Given the description of an element on the screen output the (x, y) to click on. 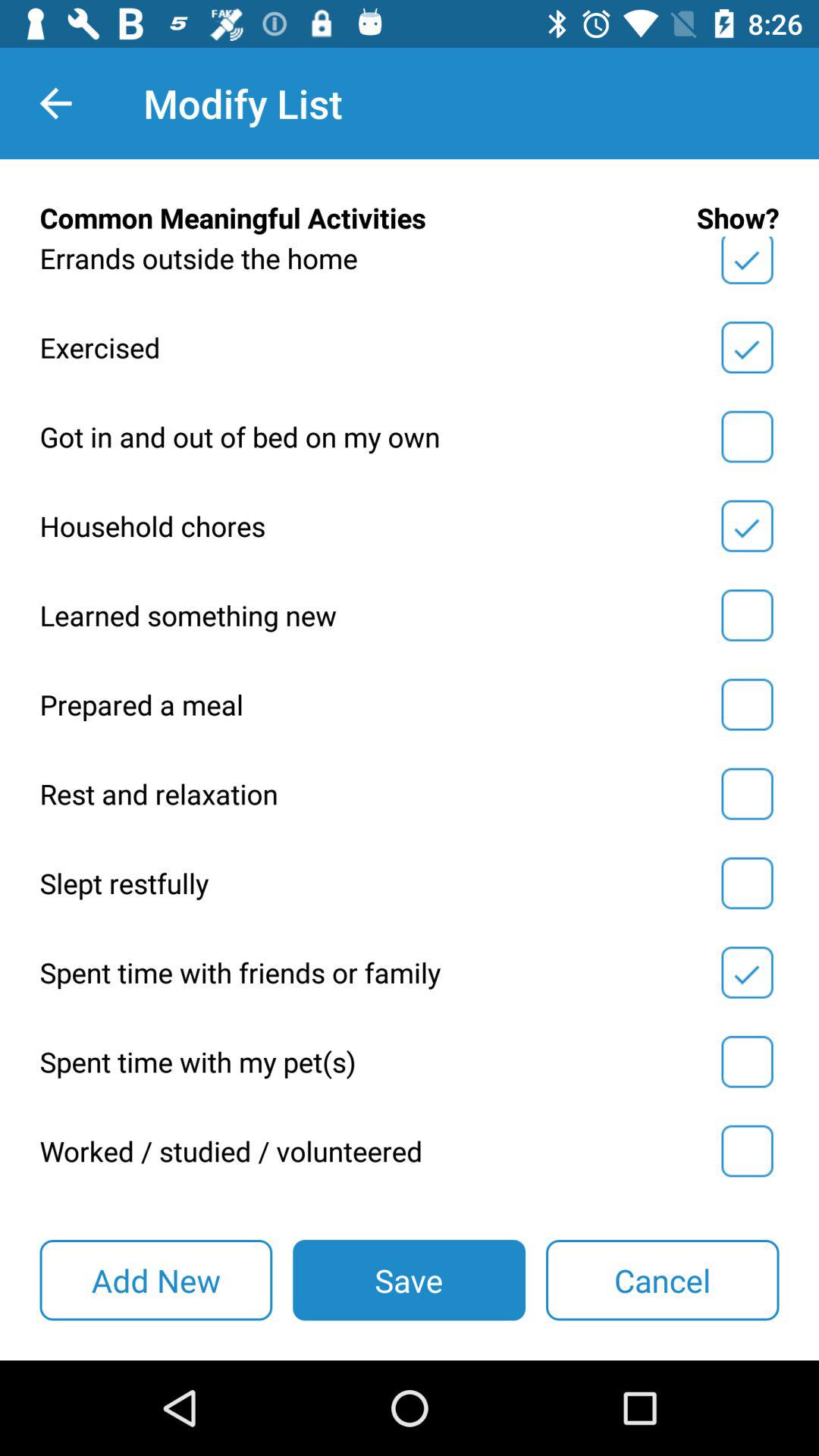
select the item to the right of the save item (662, 1279)
